Given the description of an element on the screen output the (x, y) to click on. 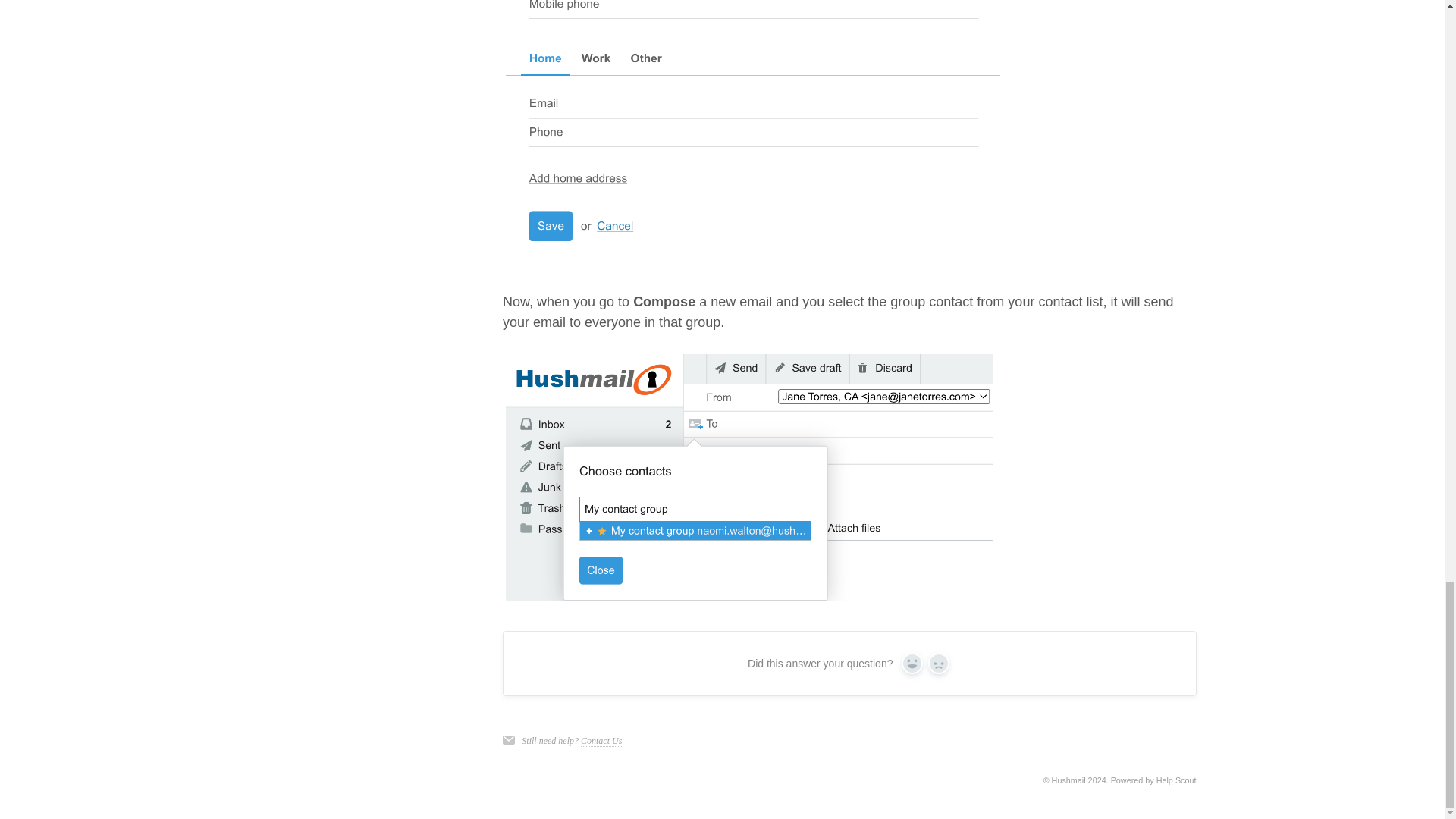
Hushmail (1068, 779)
Yes (912, 663)
Help Scout (1176, 779)
No (938, 663)
Contact Us (600, 740)
